Given the description of an element on the screen output the (x, y) to click on. 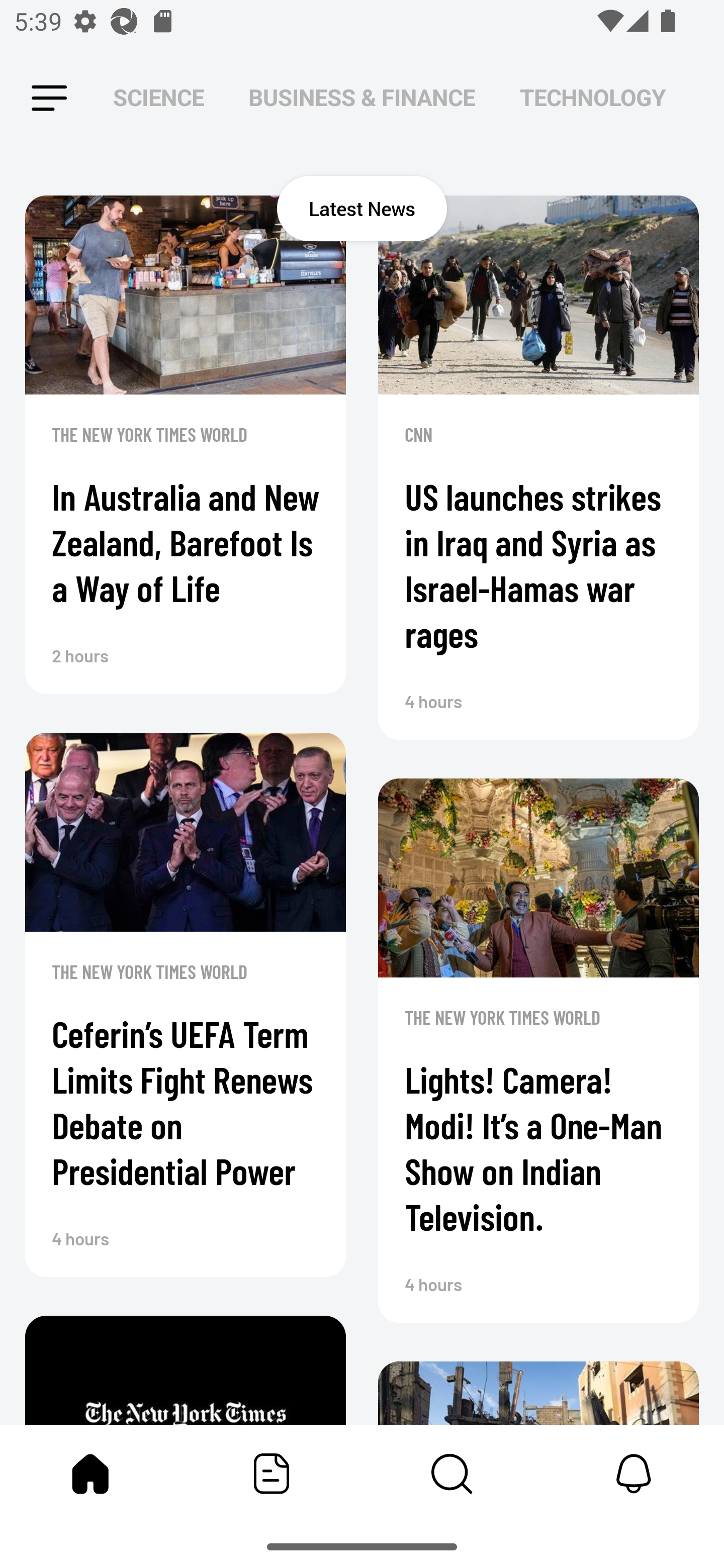
Leading Icon (49, 98)
SCIENCE (158, 97)
BUSINESS & FINANCE (361, 97)
TECHNOLOGY (592, 97)
Latest News (361, 208)
Featured (271, 1473)
Content Store (452, 1473)
Notifications (633, 1473)
